Given the description of an element on the screen output the (x, y) to click on. 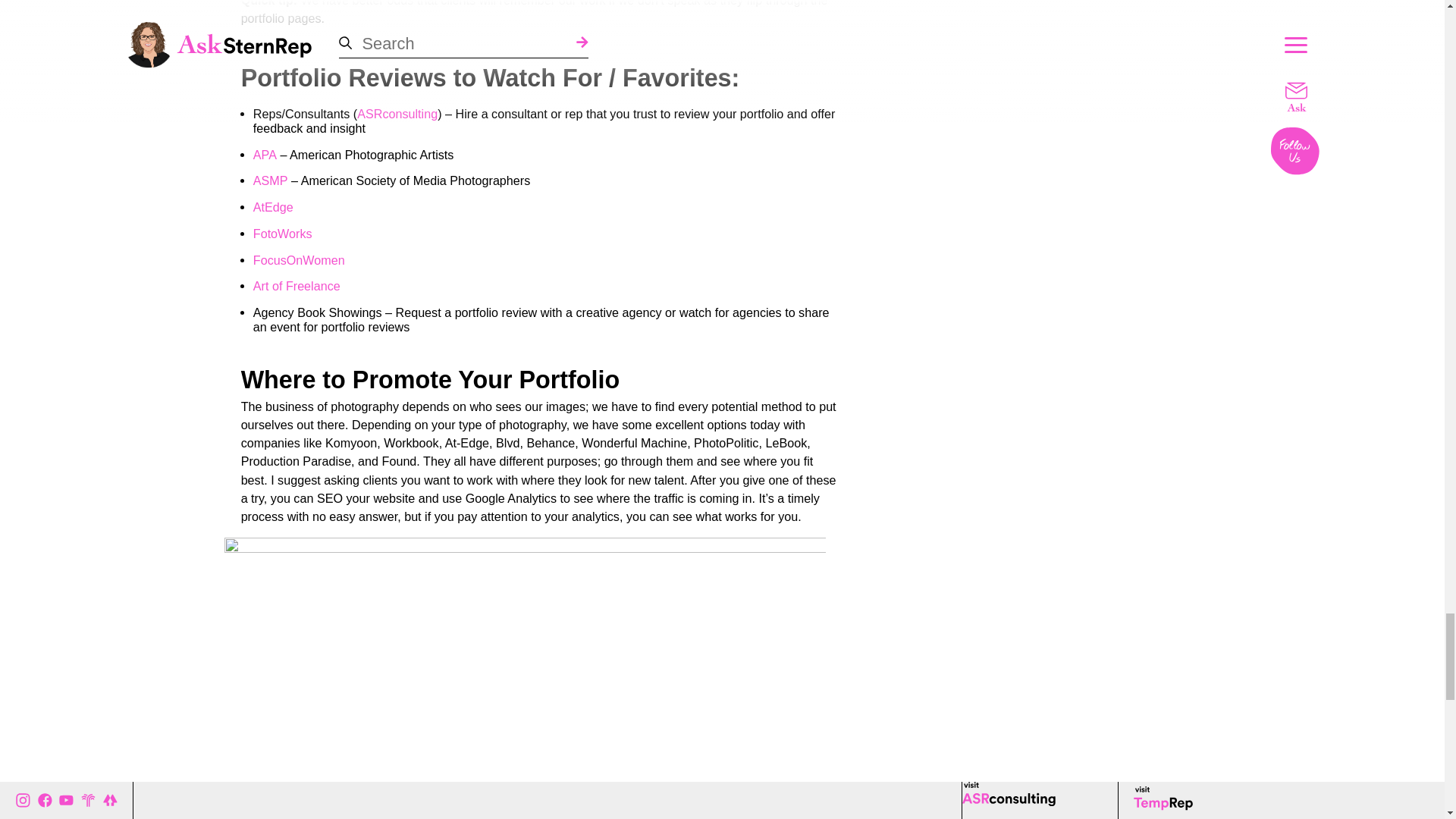
APA (264, 155)
Art of Freelance (296, 286)
ASRconsulting (397, 114)
FocusOnWomen (299, 260)
AtEdge (273, 206)
FotoWorks (283, 233)
ASMP (270, 180)
